Given the description of an element on the screen output the (x, y) to click on. 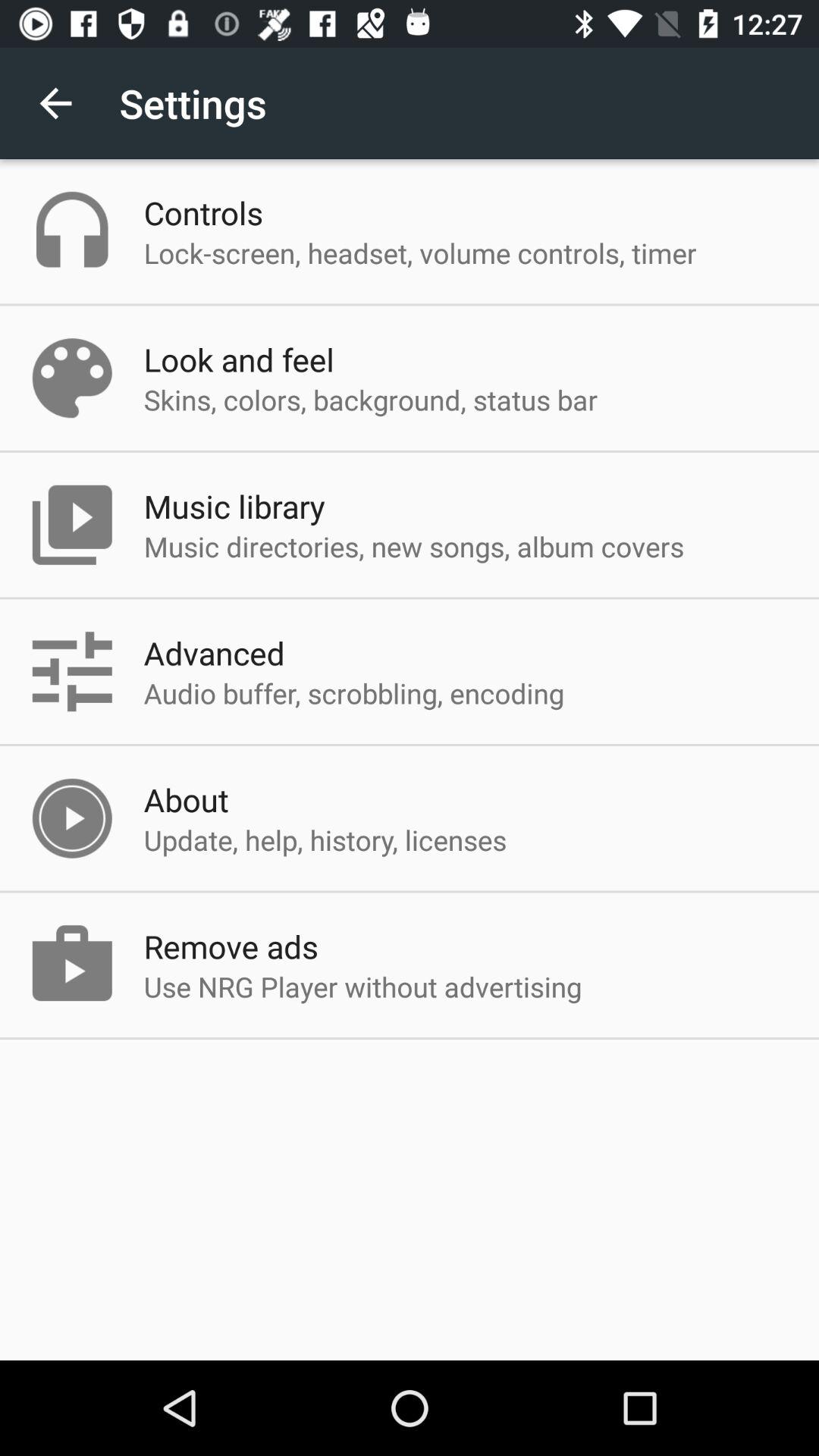
press the about icon (185, 799)
